Given the description of an element on the screen output the (x, y) to click on. 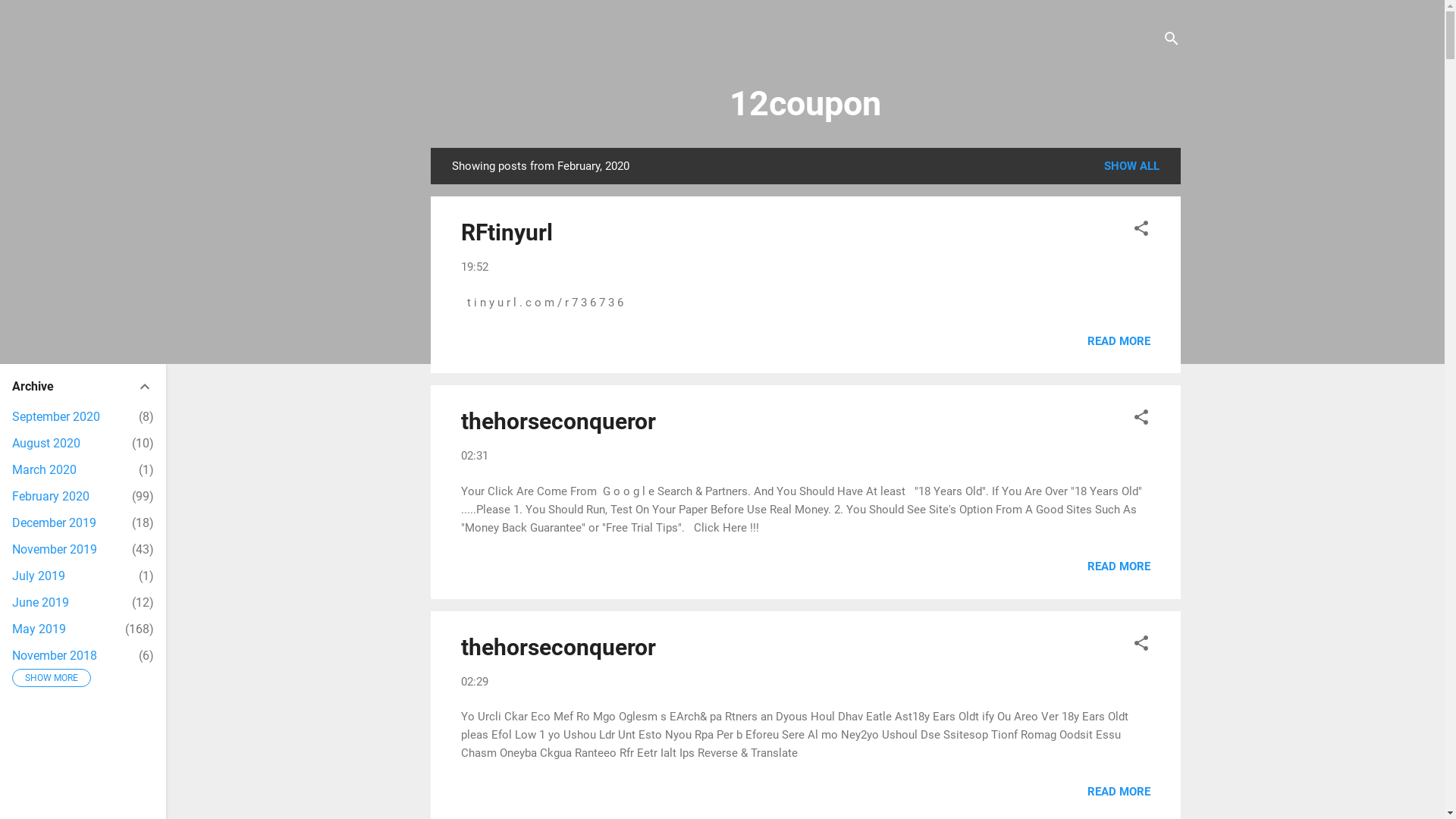
RFtinyurl Element type: text (506, 232)
February 2020
99 Element type: text (50, 496)
02:31 Element type: text (474, 455)
Search Element type: text (28, 18)
12coupon Element type: text (805, 103)
SHOW ALL Element type: text (1131, 165)
thehorseconqueror Element type: text (558, 646)
August 2020
10 Element type: text (46, 443)
READ MORE Element type: text (1118, 791)
READ MORE Element type: text (1118, 566)
September 2020
8 Element type: text (56, 416)
thehorseconqueror Element type: text (558, 420)
December 2019
18 Element type: text (54, 522)
March 2020
1 Element type: text (44, 469)
November 2019
43 Element type: text (54, 549)
November 2018
6 Element type: text (54, 655)
June 2019
12 Element type: text (40, 602)
READ MORE Element type: text (1118, 340)
19:52 Element type: text (474, 266)
May 2019
168 Element type: text (38, 628)
02:29 Element type: text (474, 681)
July 2019
1 Element type: text (38, 575)
